Given the description of an element on the screen output the (x, y) to click on. 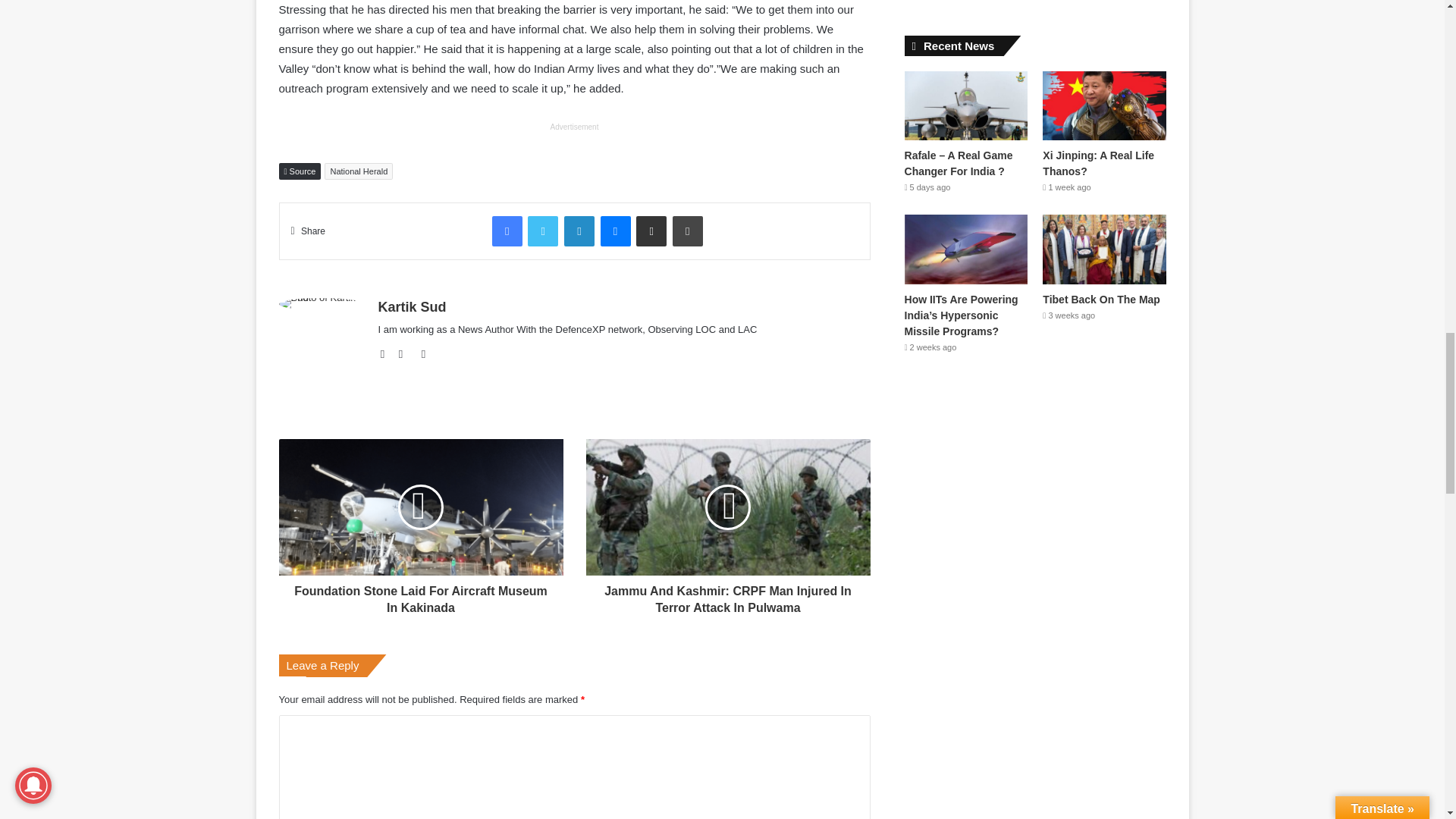
Twitter (542, 231)
LinkedIn (579, 231)
Facebook (507, 231)
